Given the description of an element on the screen output the (x, y) to click on. 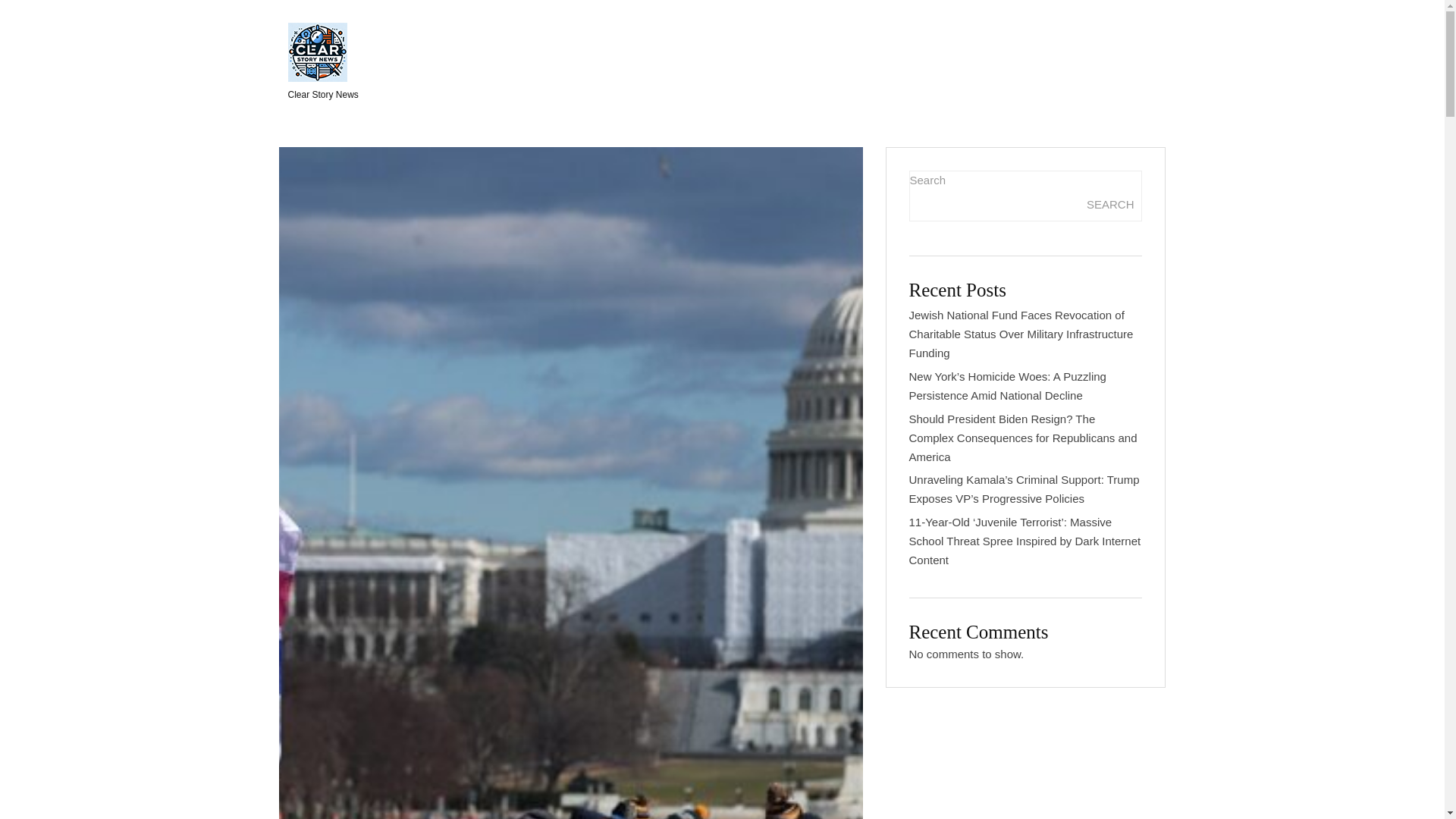
Clear Story News (323, 61)
